Given the description of an element on the screen output the (x, y) to click on. 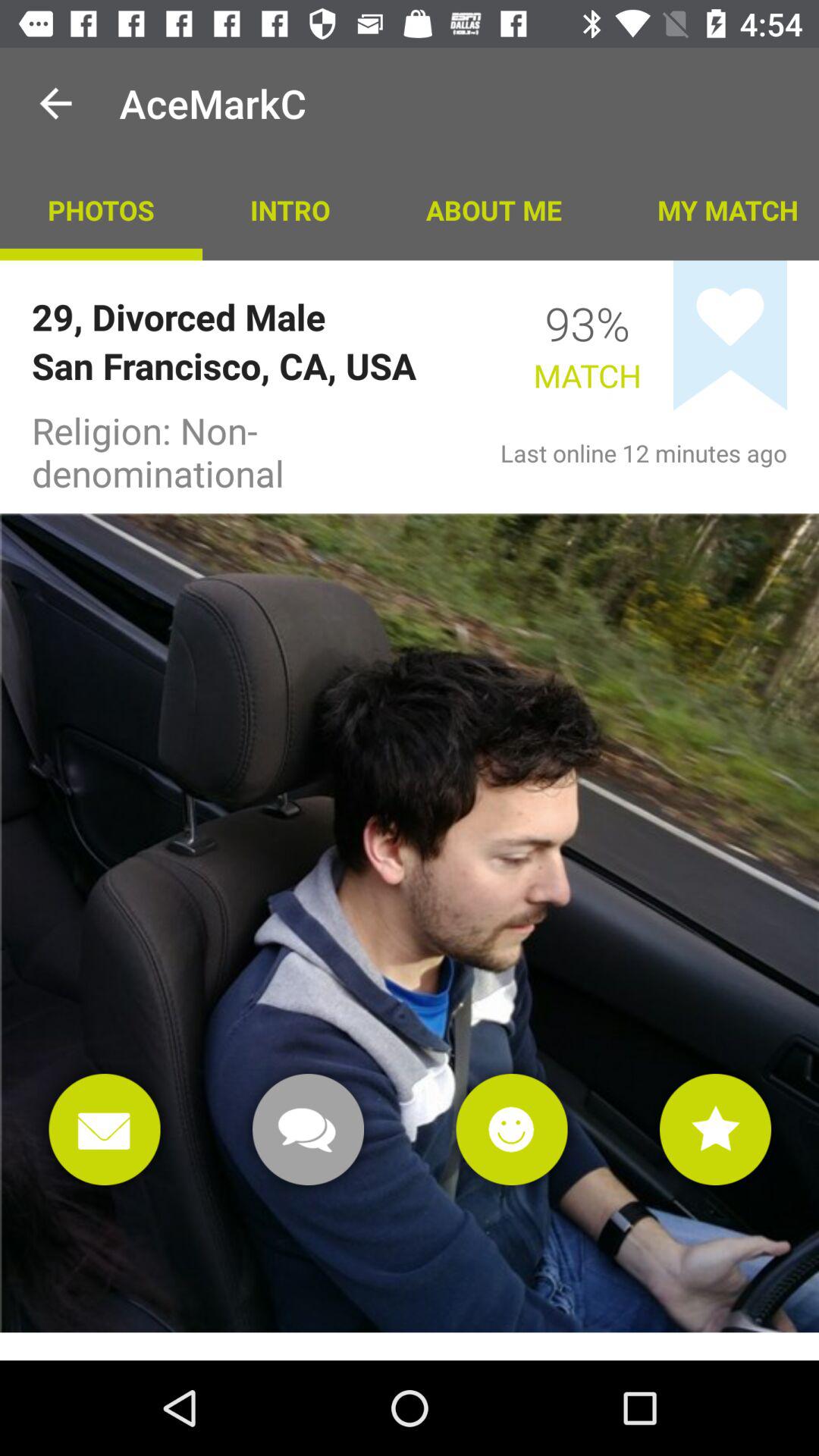
email box (104, 1129)
